Given the description of an element on the screen output the (x, y) to click on. 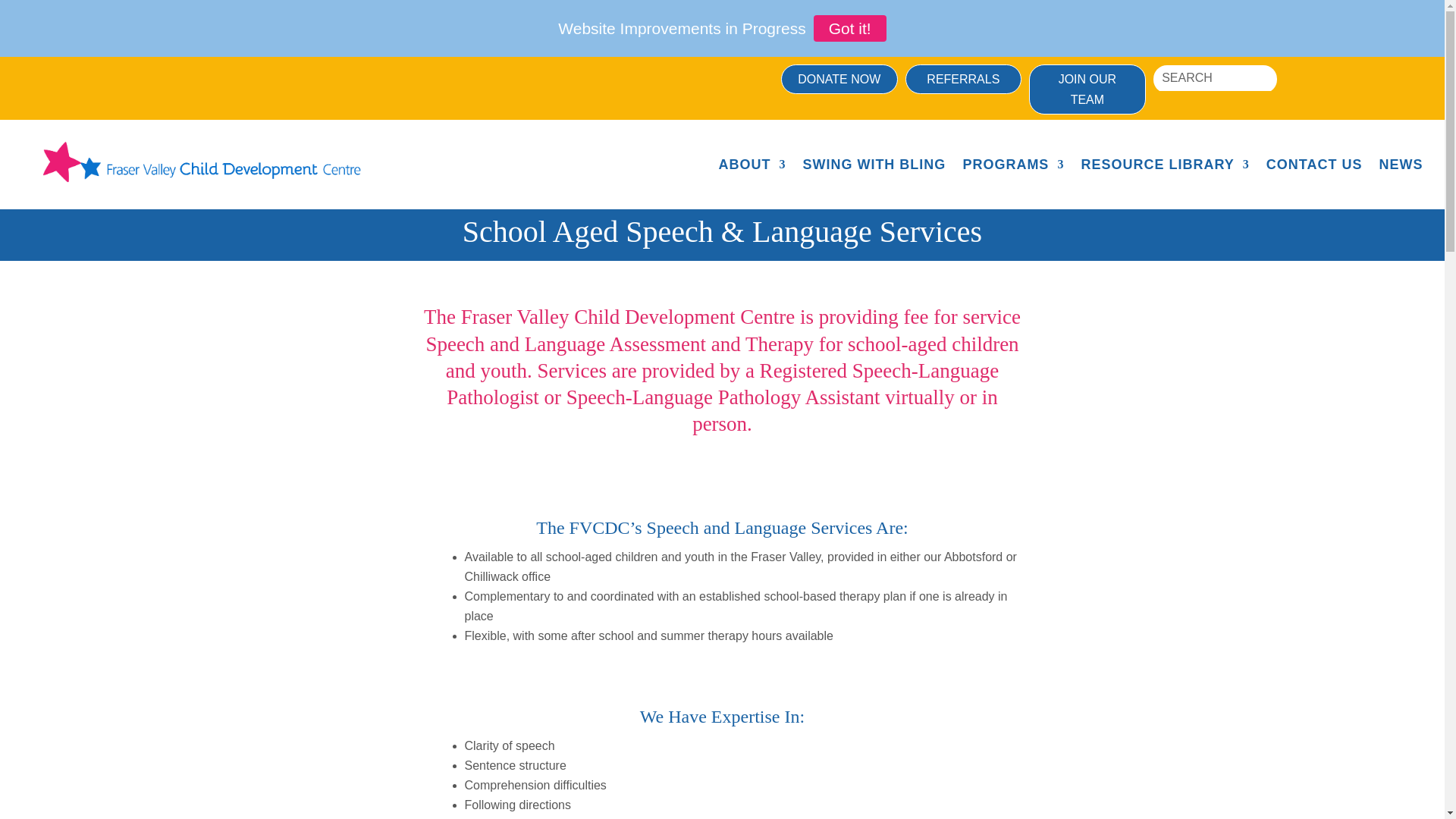
RESOURCE LIBRARY (1164, 164)
PROGRAMS (1013, 164)
SWING WITH BLING (873, 164)
REFERRALS (963, 79)
JOIN OUR TEAM (1087, 89)
CONTACT US (1314, 164)
Search (24, 13)
DONATE NOW (839, 79)
